Given the description of an element on the screen output the (x, y) to click on. 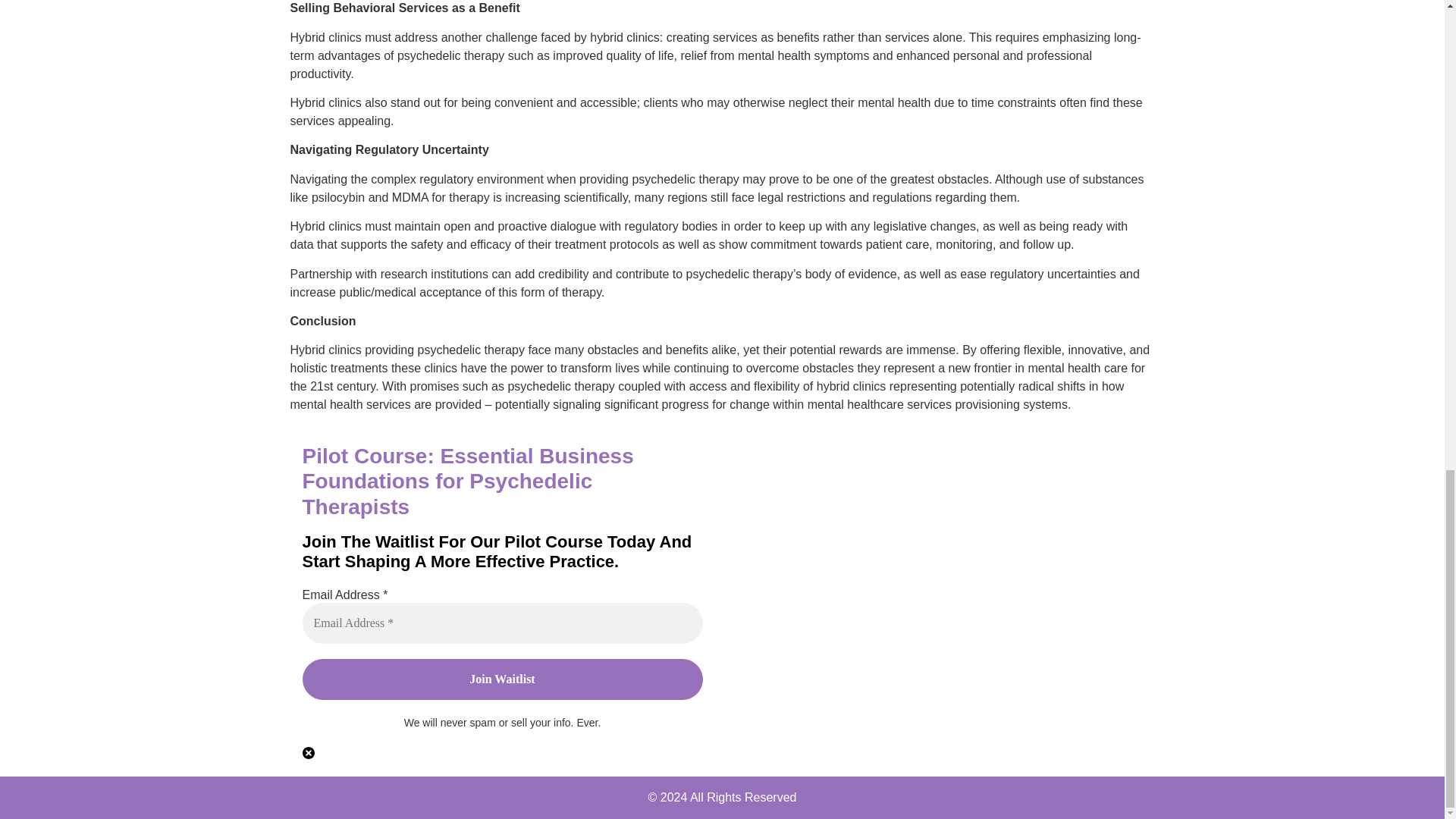
Email Address (501, 622)
Join Waitlist (501, 679)
Join Waitlist (501, 679)
